Given the description of an element on the screen output the (x, y) to click on. 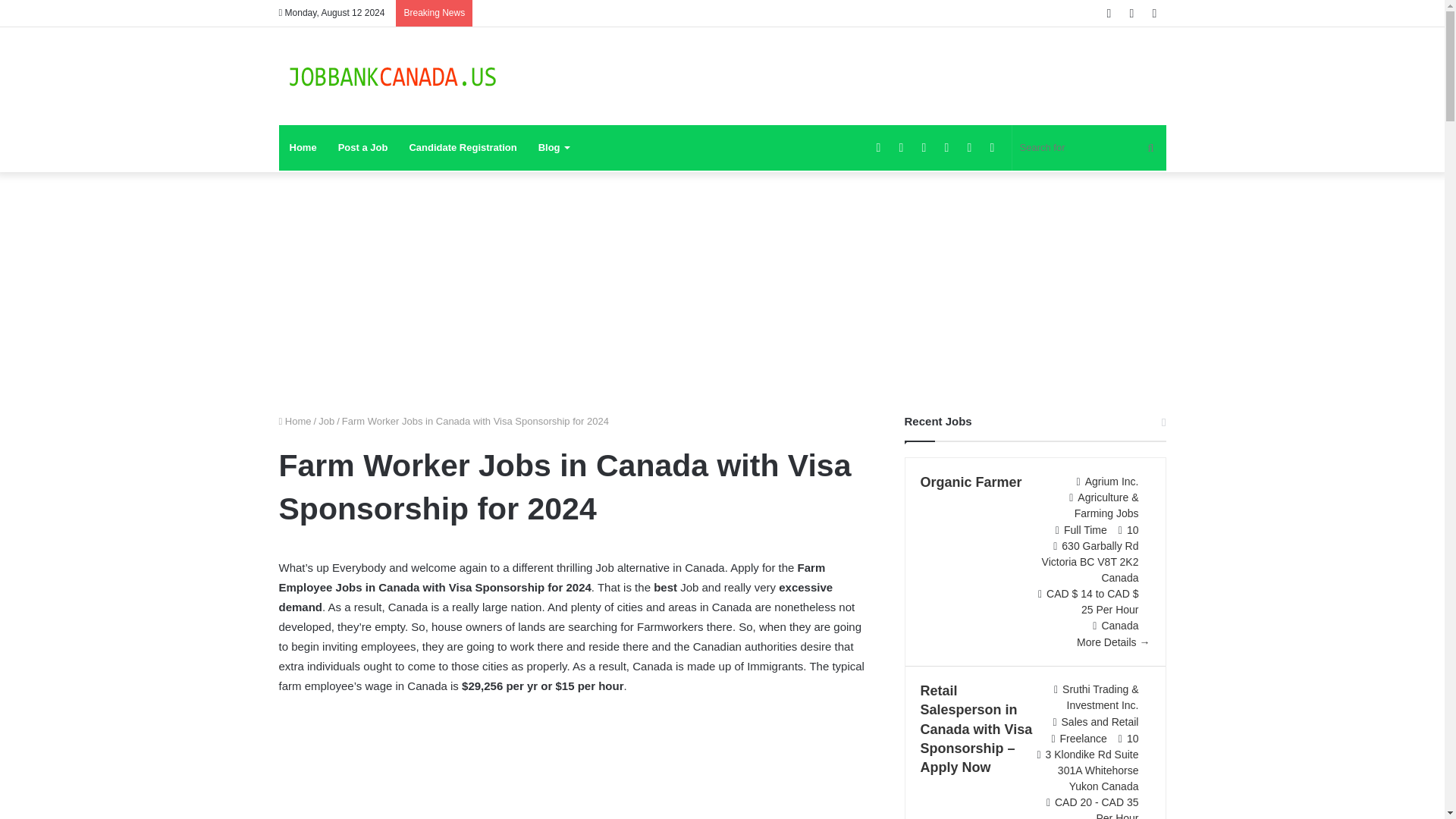
Post a Job (362, 147)
Blog (553, 147)
Job (326, 420)
Candidate Registration (462, 147)
Home (295, 420)
Home (303, 147)
Wel Come to Jobbankcanada.us (392, 76)
Search for (1088, 147)
Advertisement (574, 766)
